Given the description of an element on the screen output the (x, y) to click on. 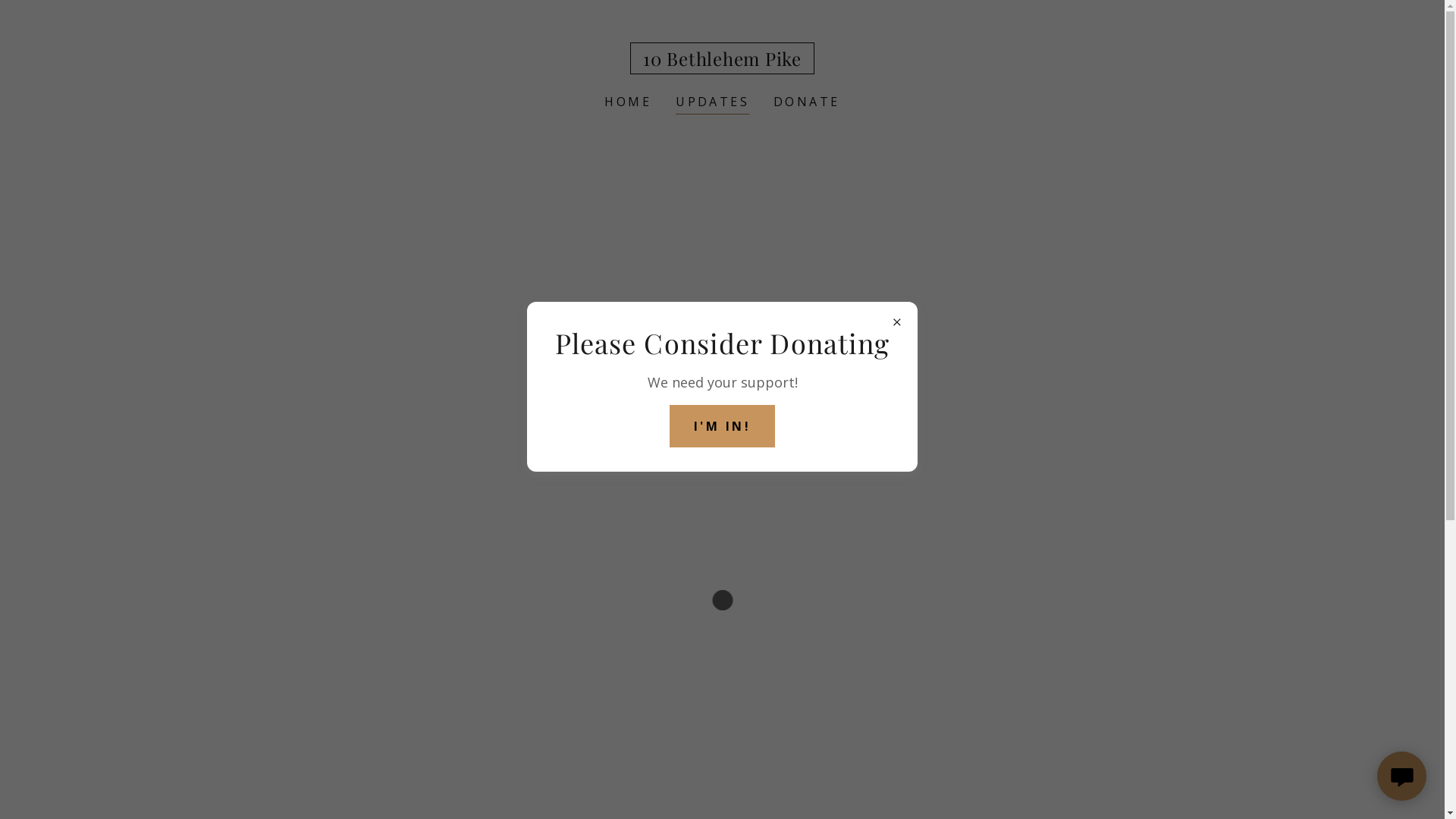
I'M IN! Element type: text (722, 425)
10 Bethlehem Pike Element type: text (722, 60)
UPDATES Element type: text (712, 103)
HOME Element type: text (627, 101)
DONATE Element type: text (806, 101)
